Given the description of an element on the screen output the (x, y) to click on. 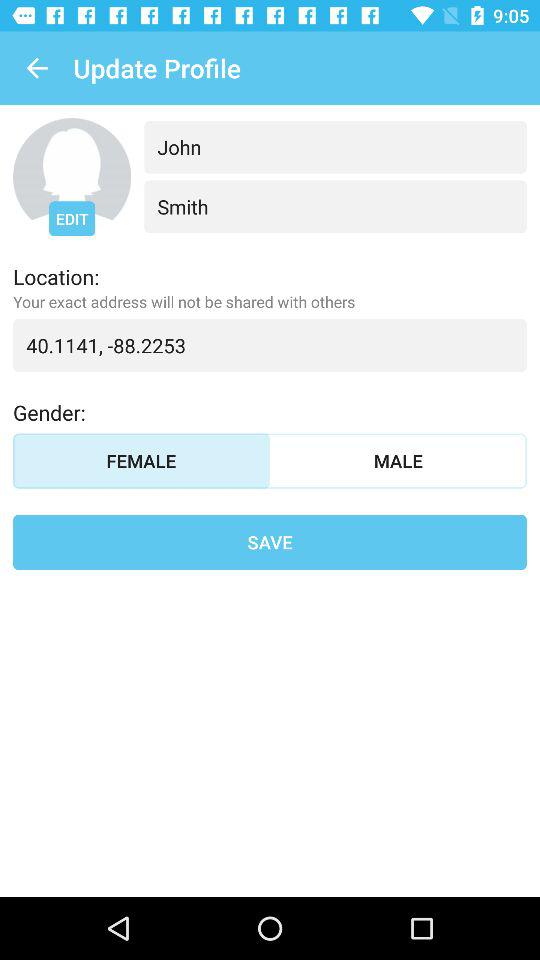
swipe until the edit (72, 218)
